Given the description of an element on the screen output the (x, y) to click on. 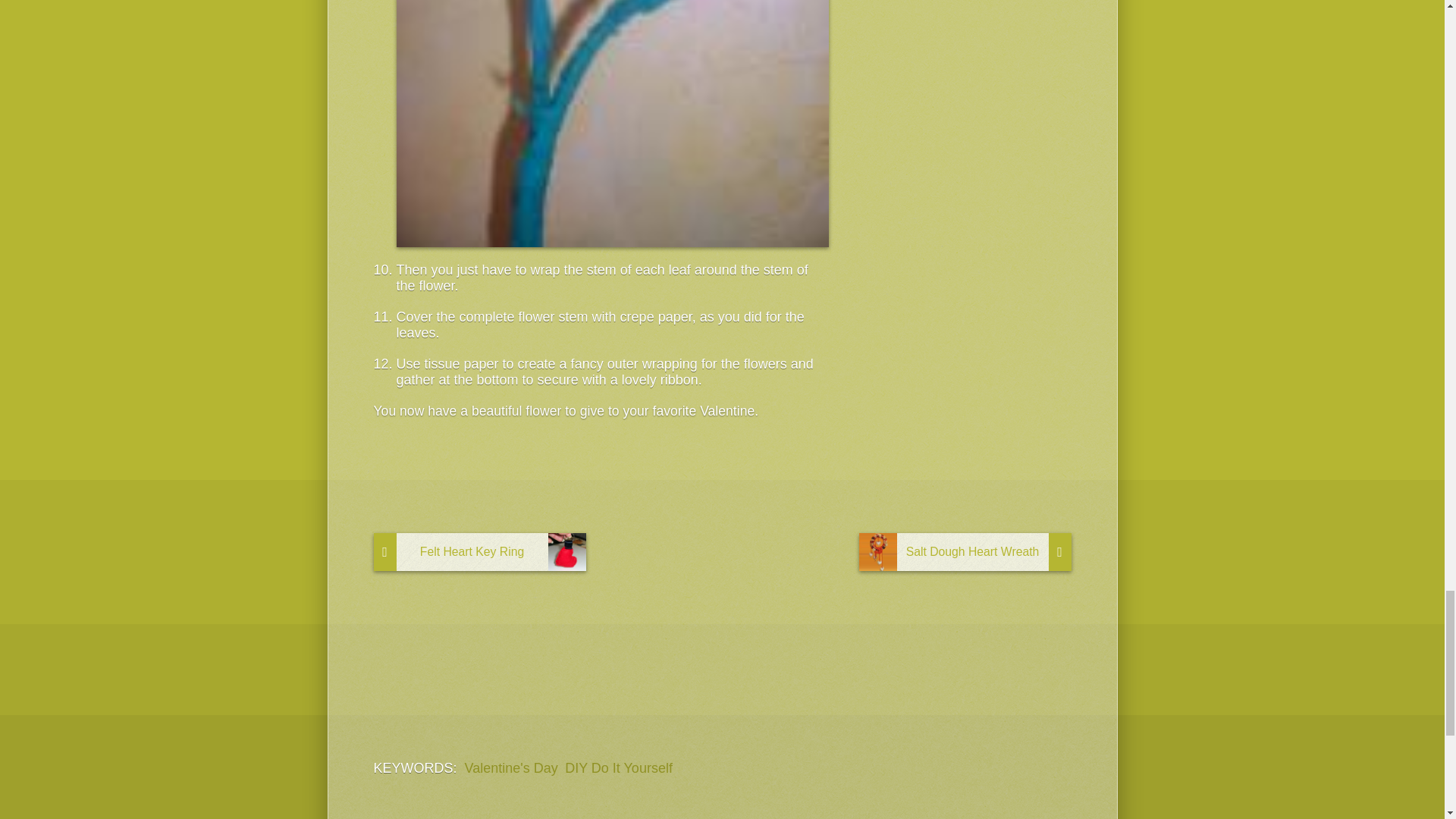
Valentine'S Day (510, 768)
Felt Heart Key Ring (478, 551)
Salt Dough Heart Wreath (964, 551)
next : Homemade Valentine's Day gift ideas (964, 551)
DIY Do It Yourself (618, 768)
previous : Homemade Valentine's Day gift ideas (478, 551)
